Given the description of an element on the screen output the (x, y) to click on. 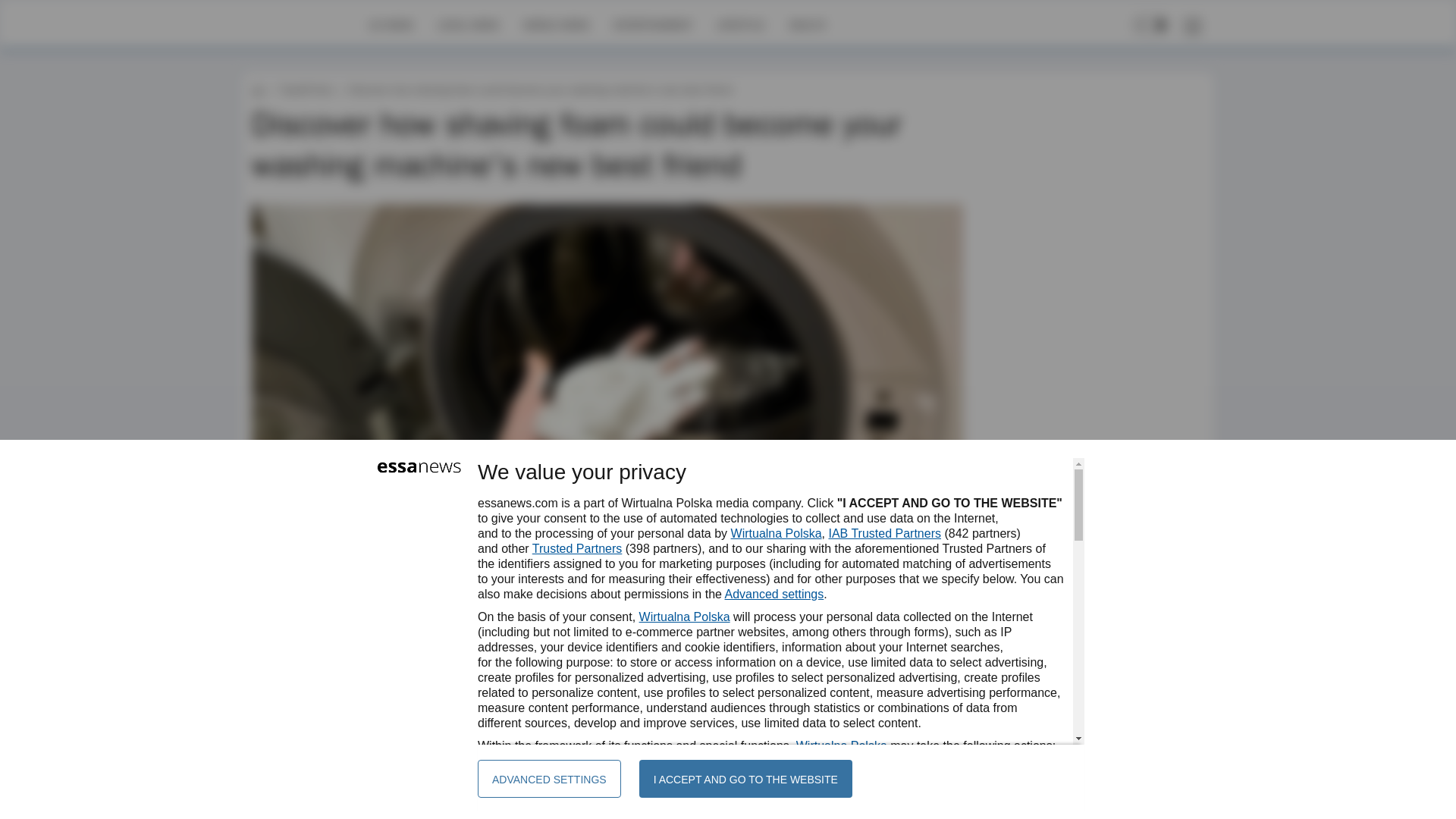
LOCAL NEWS (468, 24)
LIFESTYLE (740, 24)
SHARE (936, 649)
ALB (298, 641)
WORLD NEWS (555, 24)
Homepage (305, 24)
ALB (298, 641)
essanews.com (257, 89)
ENTERTAINMENT (652, 24)
US NEWS (390, 24)
HEALTH (807, 24)
